Given the description of an element on the screen output the (x, y) to click on. 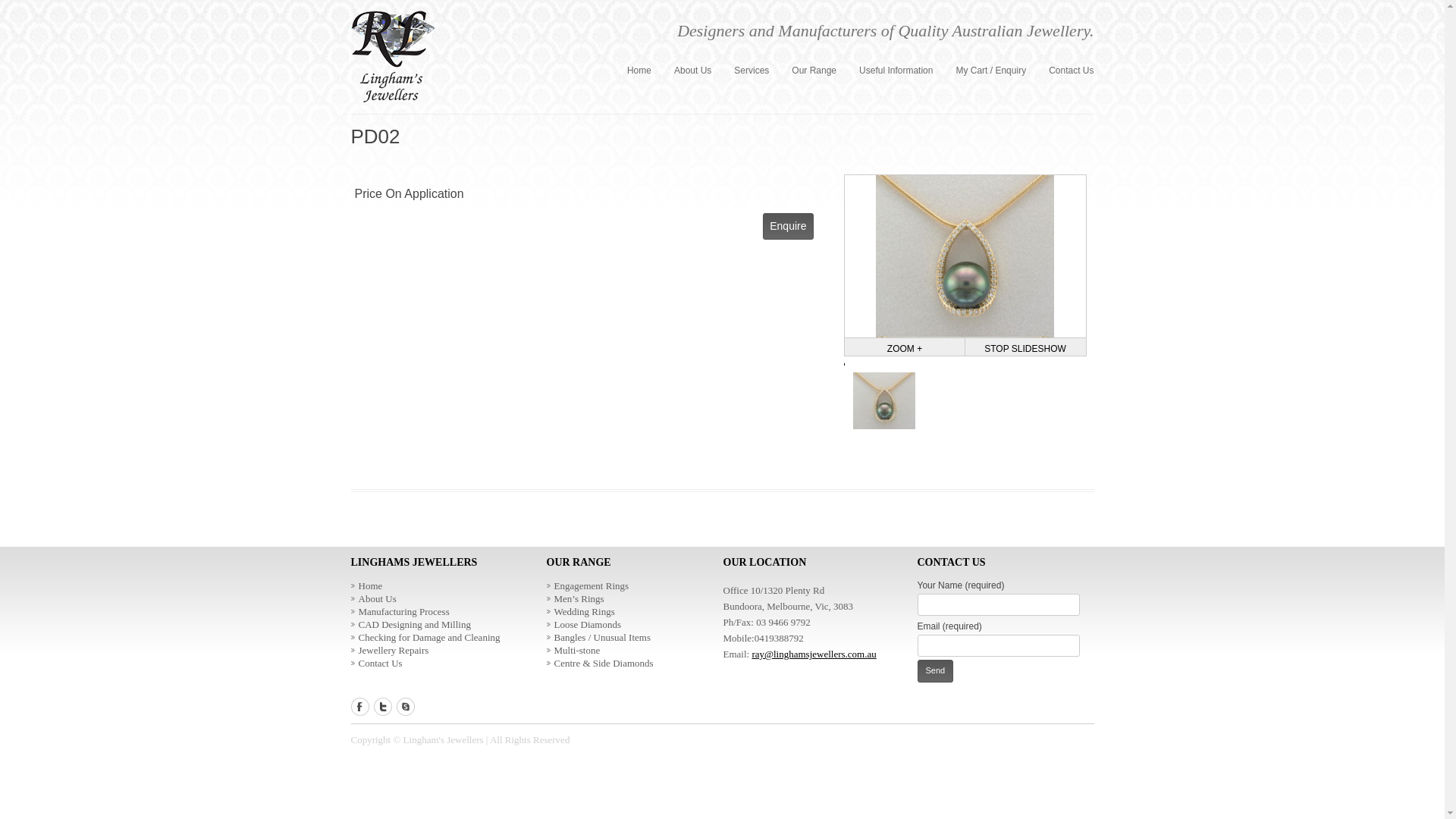
Twitter Element type: text (385, 710)
Contact Us Element type: text (1070, 70)
Loose Diamonds Element type: text (583, 624)
ray@linghamsjewellers.com.au Element type: text (813, 653)
Skype Element type: text (407, 710)
facebook Element type: text (362, 710)
Centre & Side Diamonds Element type: text (599, 662)
Checking for Damage and Cleaning Element type: text (424, 637)
Linghams Jewellers Melbourne Element type: hover (392, 59)
Our Range Element type: text (813, 70)
About Us Element type: text (372, 598)
Manufacturing Process Element type: text (399, 611)
Multi-stone Element type: text (572, 649)
Wedding Rings Element type: text (580, 611)
My Cart / Enquiry Element type: text (990, 70)
Bangles / Unusual Items Element type: text (597, 637)
Engagement Rings Element type: text (587, 585)
CAD Designing and Milling Element type: text (410, 624)
Contact Us Element type: text (375, 662)
About Us Element type: text (692, 70)
Send Element type: text (935, 670)
Services Element type: text (751, 70)
Home Element type: text (639, 70)
Enquire Element type: text (787, 226)
Useful Information Element type: text (895, 70)
Jewellery Repairs Element type: text (389, 649)
Home Element type: text (366, 585)
